Given the description of an element on the screen output the (x, y) to click on. 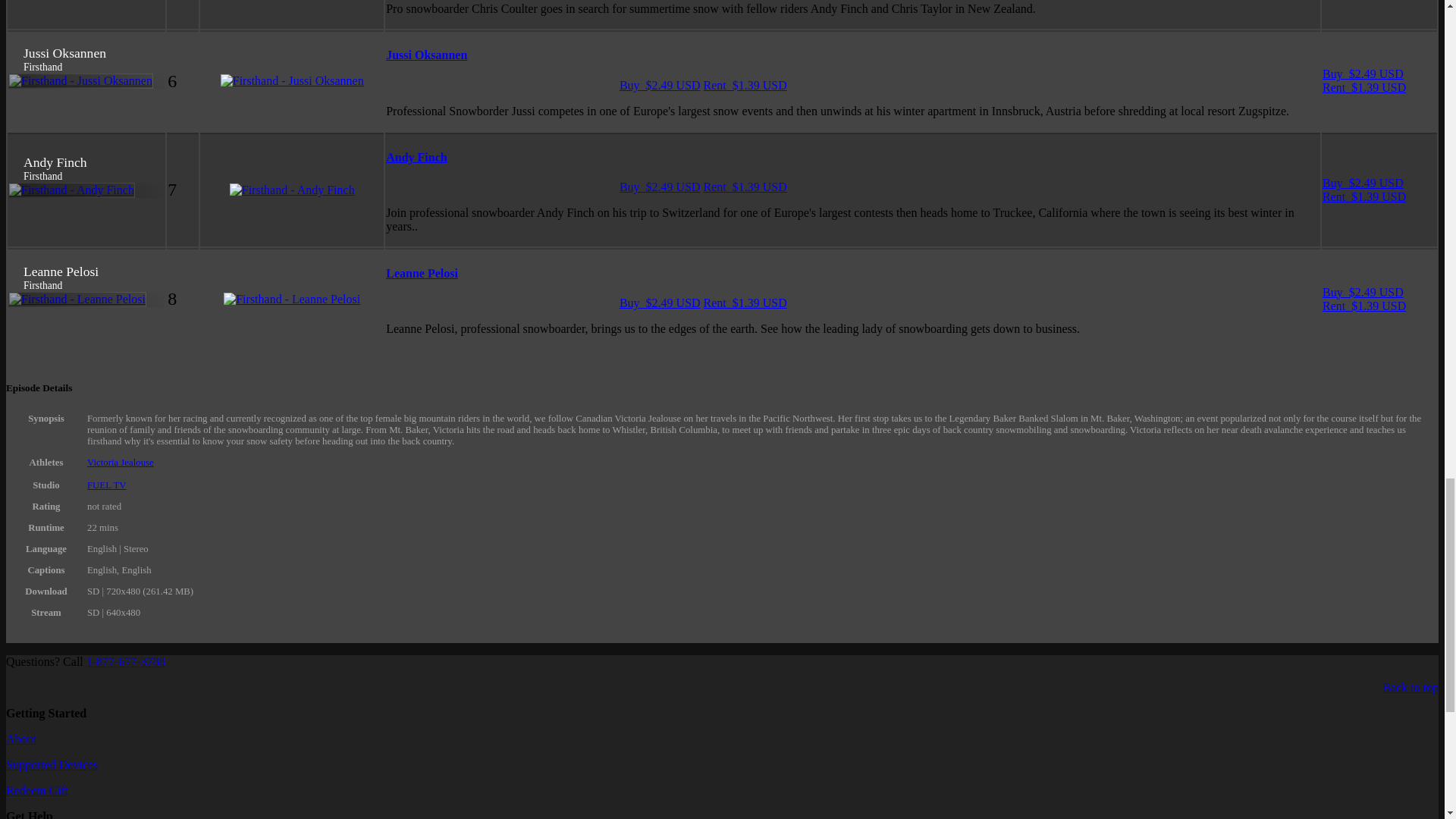
Jussi Oksannen  (426, 54)
Andy Finch (415, 156)
Leanne Pelosi  (421, 273)
